Given the description of an element on the screen output the (x, y) to click on. 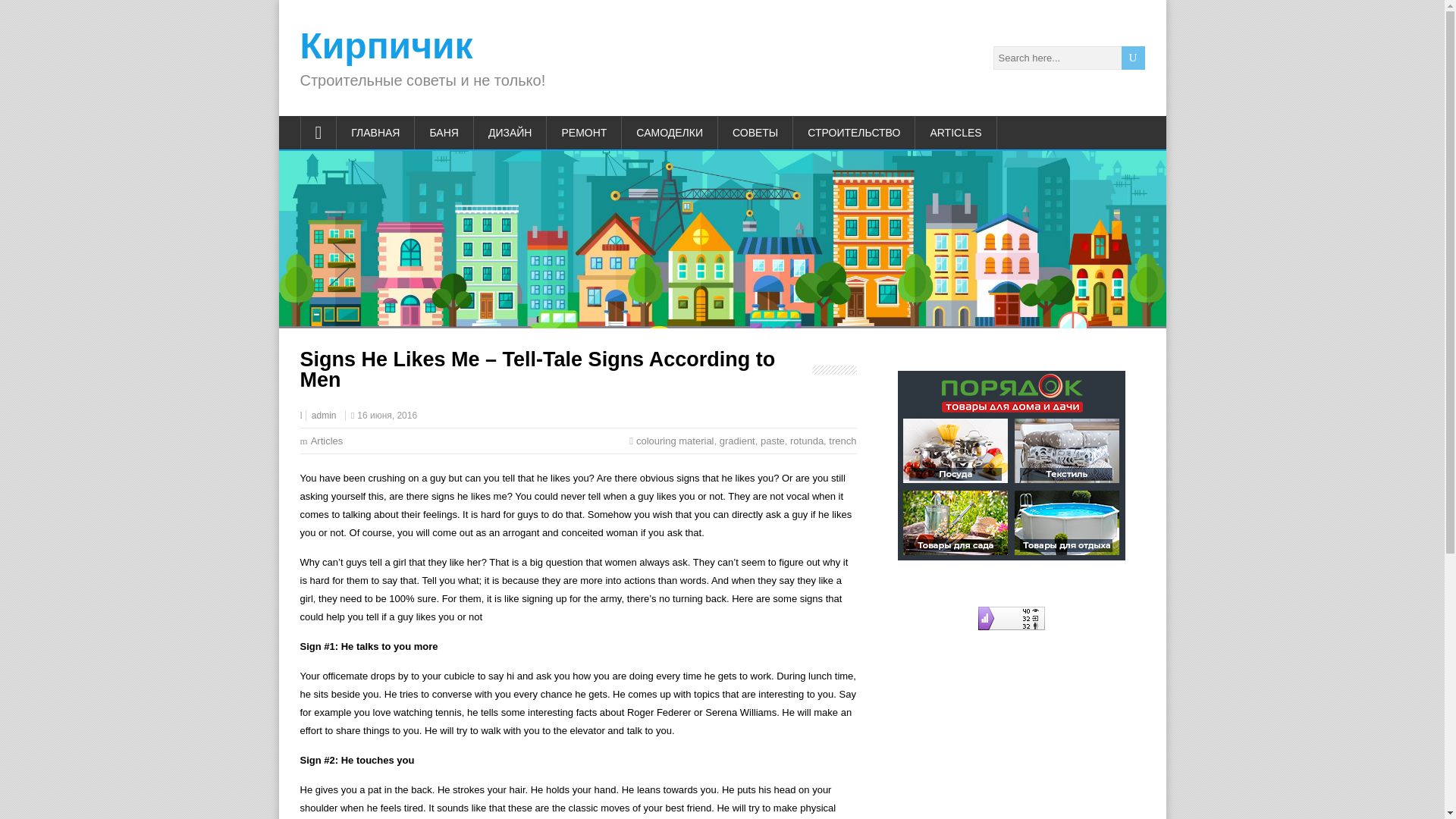
ARTICLES (955, 132)
trench (842, 440)
colouring material (675, 440)
gradient (737, 440)
rotunda (807, 440)
admin (323, 415)
U (1132, 57)
U (1132, 57)
U (1132, 57)
paste (772, 440)
Articles (327, 440)
